Given the description of an element on the screen output the (x, y) to click on. 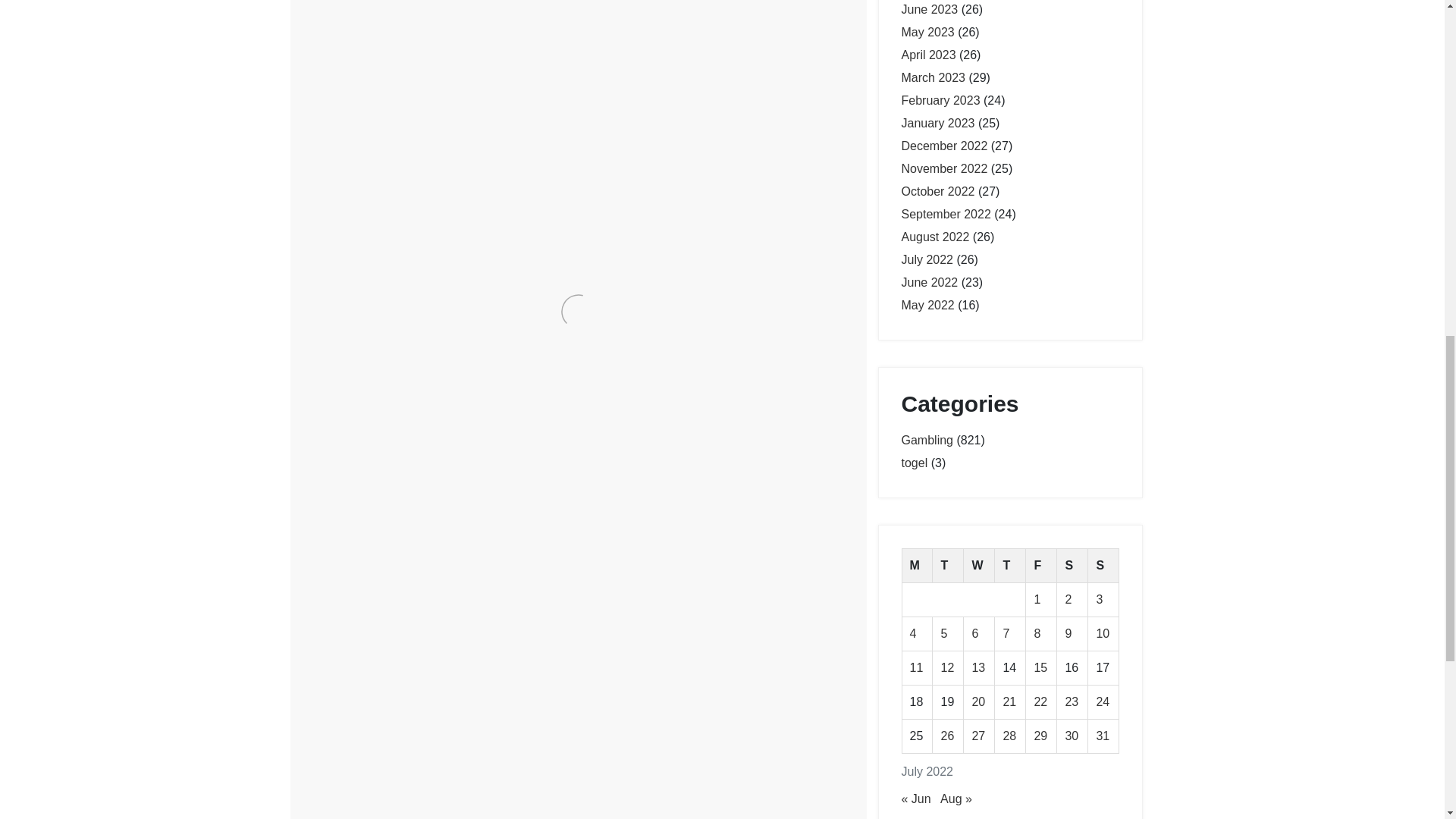
Sunday (1103, 565)
February 2023 (940, 100)
May 2023 (927, 31)
Gambling (365, 360)
April 2023 (928, 54)
May 2022 (927, 305)
December 2022 (944, 145)
November 2022 (944, 168)
June 2023 (929, 9)
September 2022 (945, 214)
